Given the description of an element on the screen output the (x, y) to click on. 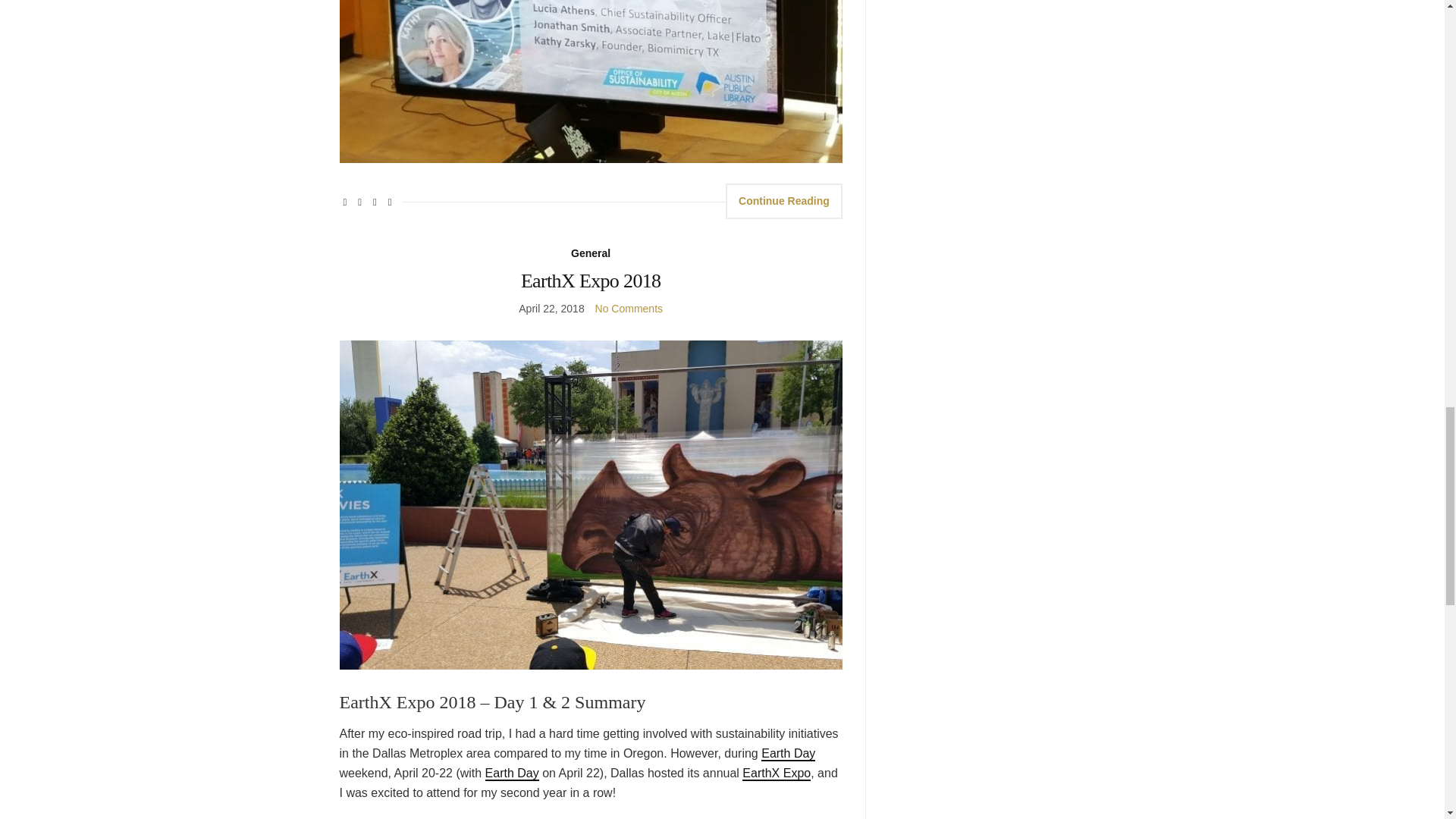
Continue Reading (784, 201)
